Given the description of an element on the screen output the (x, y) to click on. 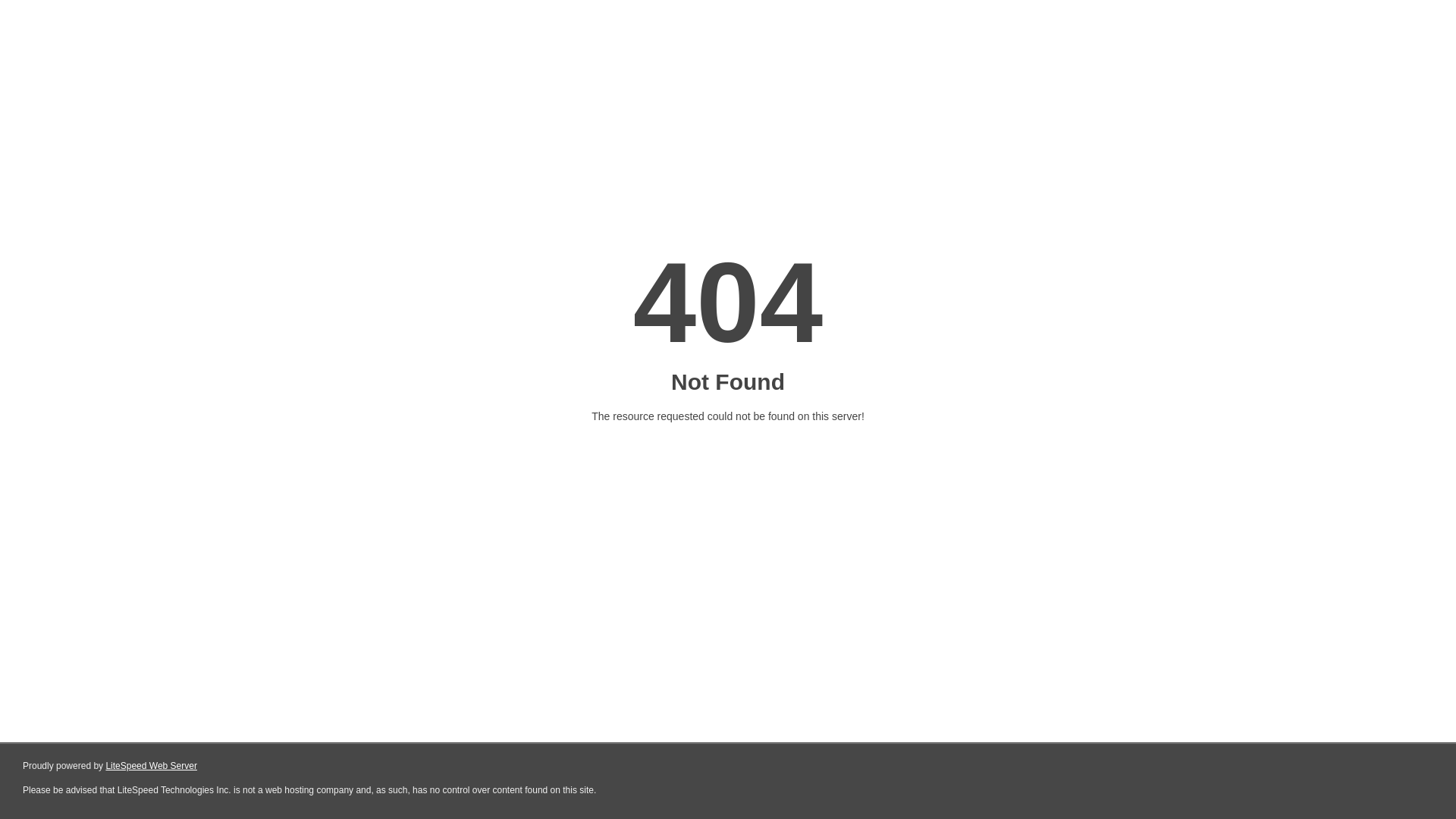
LiteSpeed Web Server Element type: text (151, 765)
